Given the description of an element on the screen output the (x, y) to click on. 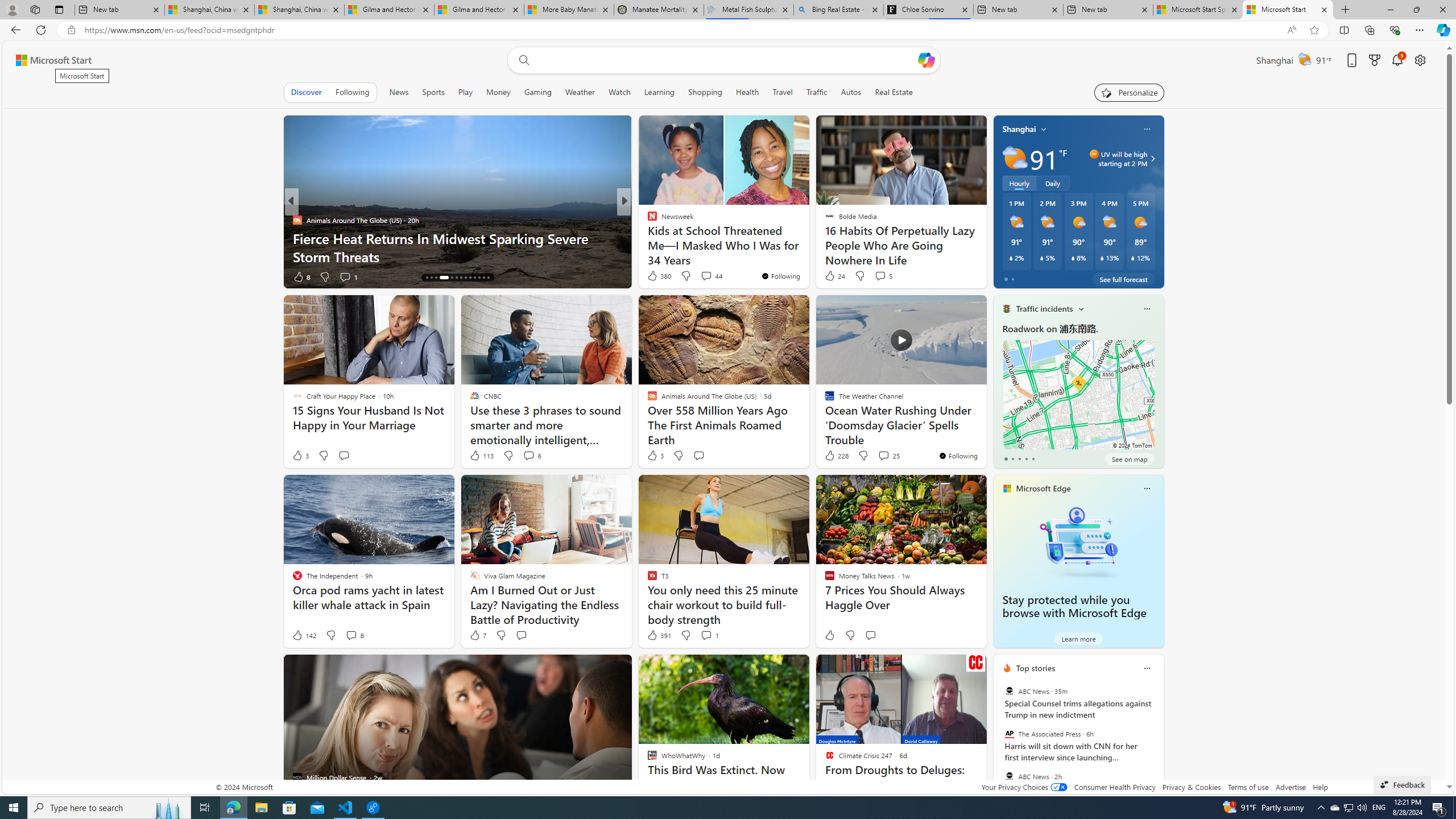
crypto Eri (647, 219)
AutomationID: tab-20 (460, 277)
152 Like (654, 276)
A Body Language Expert's 14 Tips To Appear More Confident (807, 247)
AutomationID: tab-24 (478, 277)
Fierce Heat Returns In Midwest Sparking Severe Storm Threats (457, 247)
View comments 25 Comment (888, 455)
Bing Real Estate - Home sales and rental listings (838, 9)
Learn more (1078, 638)
View comments 196 Comment (703, 276)
